Given the description of an element on the screen output the (x, y) to click on. 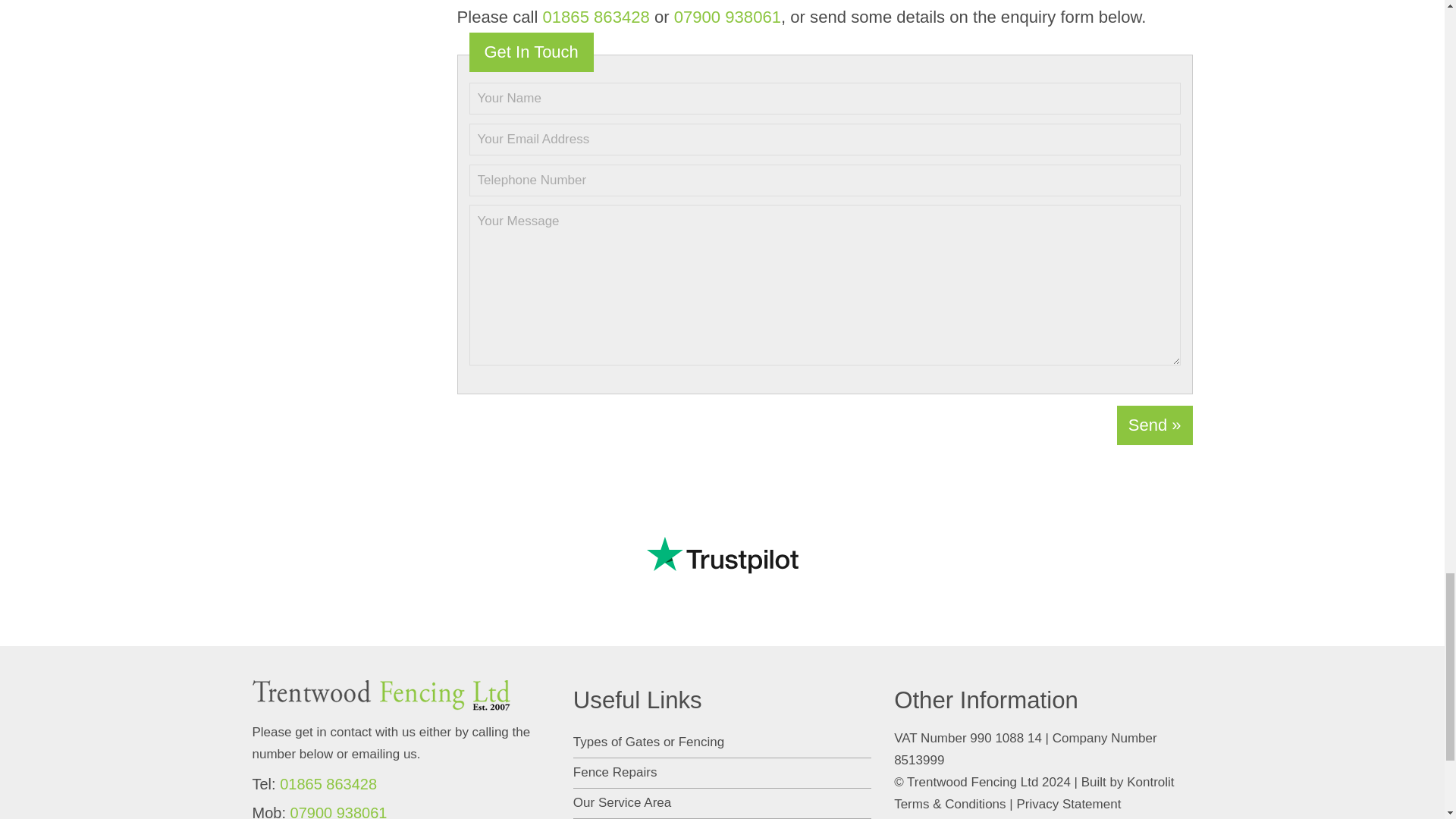
Customer reviews powered by Trustpilot (721, 554)
01865 863428 (595, 16)
